Given the description of an element on the screen output the (x, y) to click on. 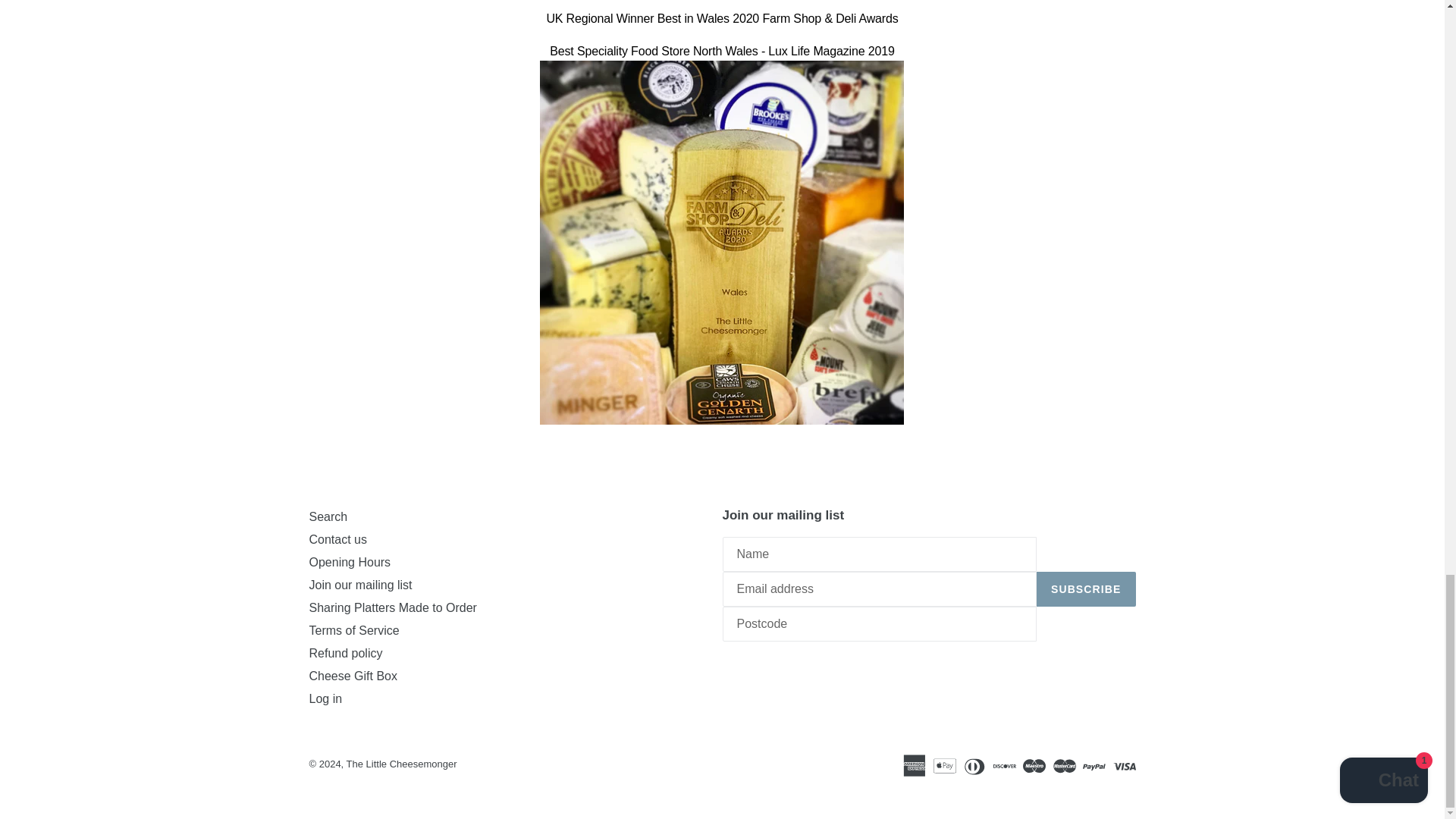
Cheese Gift Box (352, 675)
Join our mailing list (360, 584)
SUBSCRIBE (1085, 588)
Sharing Platters Made to Order (392, 607)
The Little Cheesemonger (401, 763)
Search (327, 516)
Refund policy (345, 653)
Terms of Service (353, 630)
Opening Hours (349, 562)
Contact us (337, 539)
Log in (507, 699)
